Given the description of an element on the screen output the (x, y) to click on. 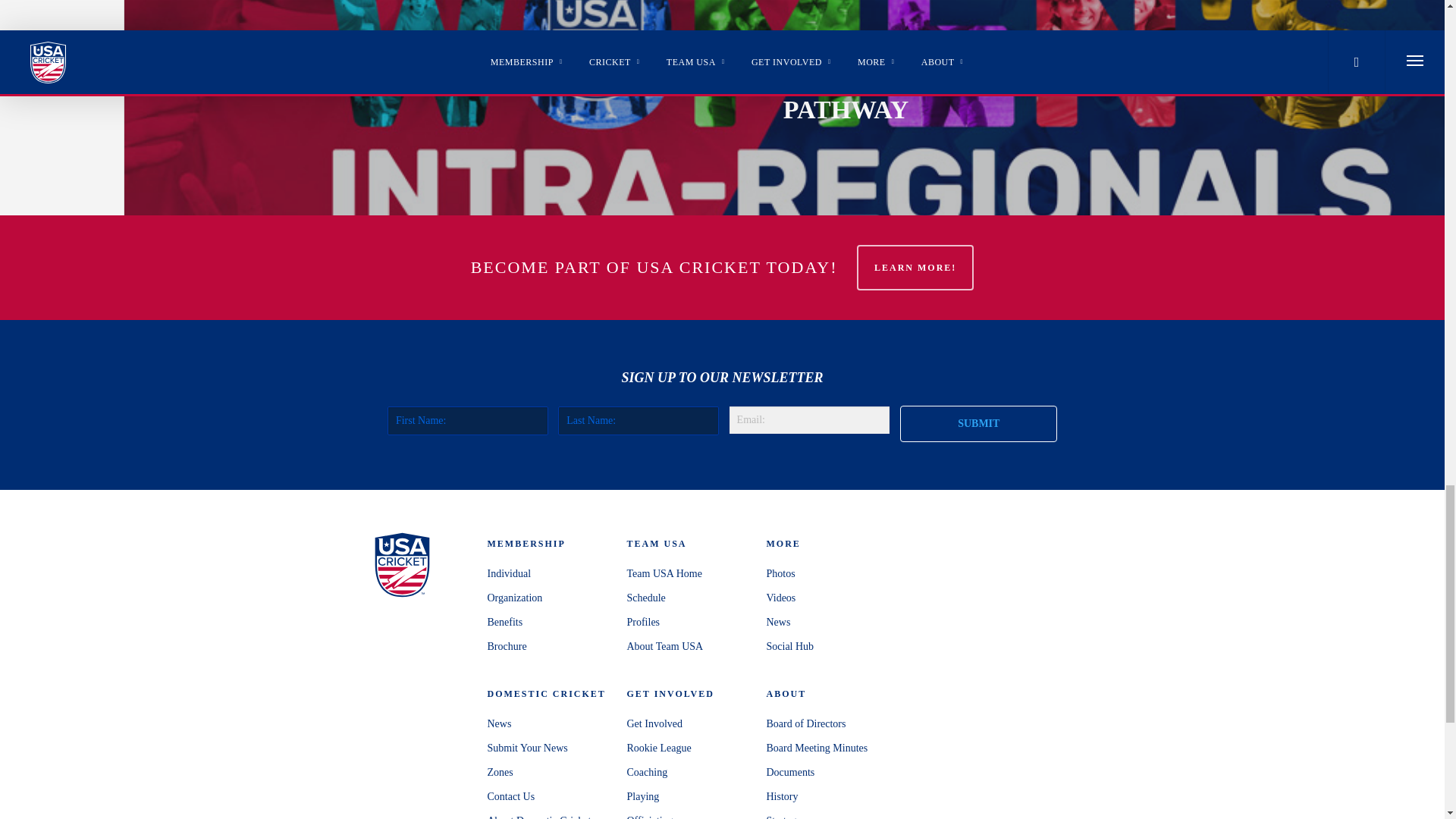
Submit (978, 423)
